Given the description of an element on the screen output the (x, y) to click on. 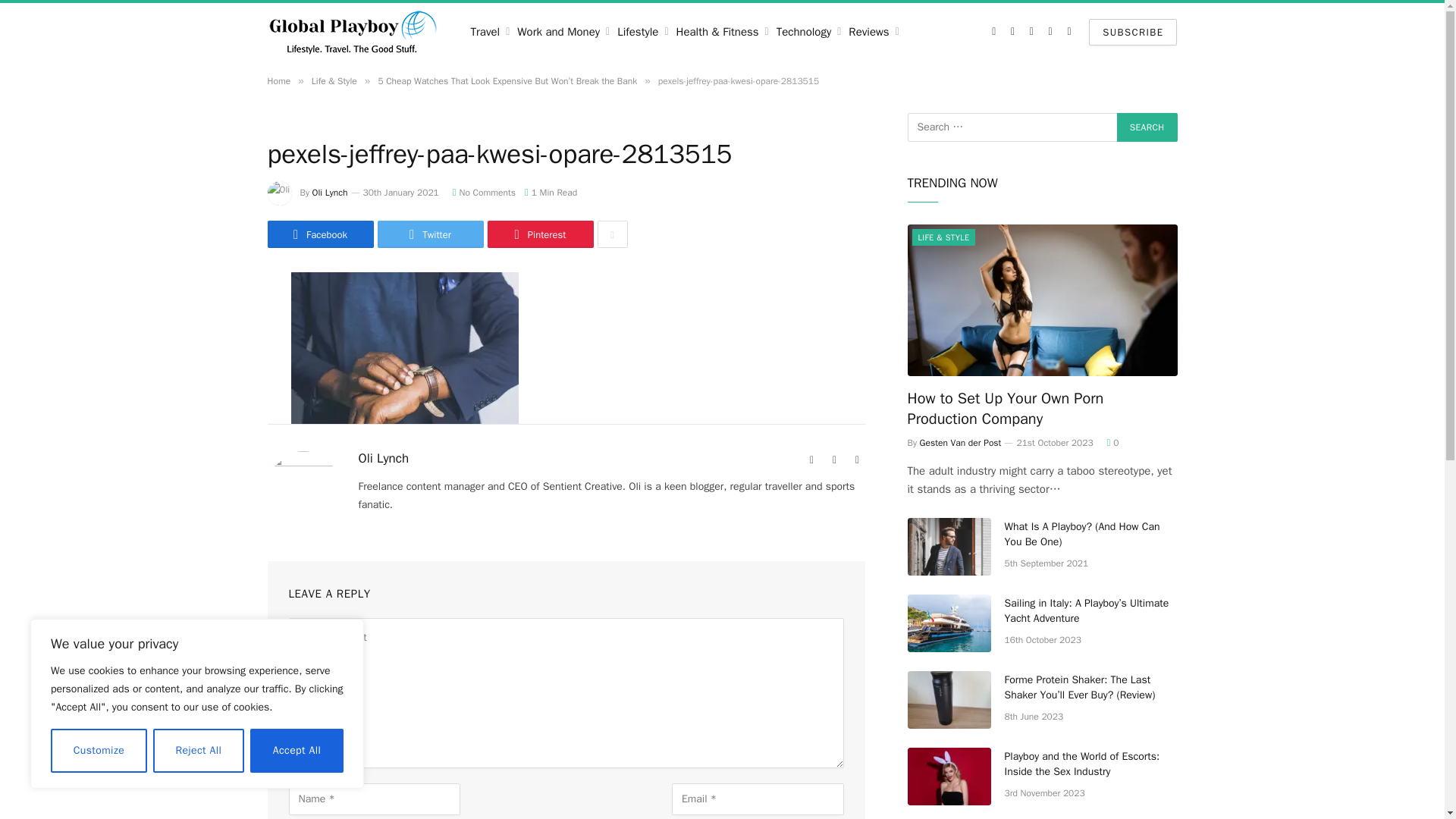
Customize (98, 750)
Travel (490, 31)
Search (1146, 127)
Work and Money (562, 31)
Reject All (198, 750)
Accept All (296, 750)
Global Playboy (352, 31)
Search (1146, 127)
